Given the description of an element on the screen output the (x, y) to click on. 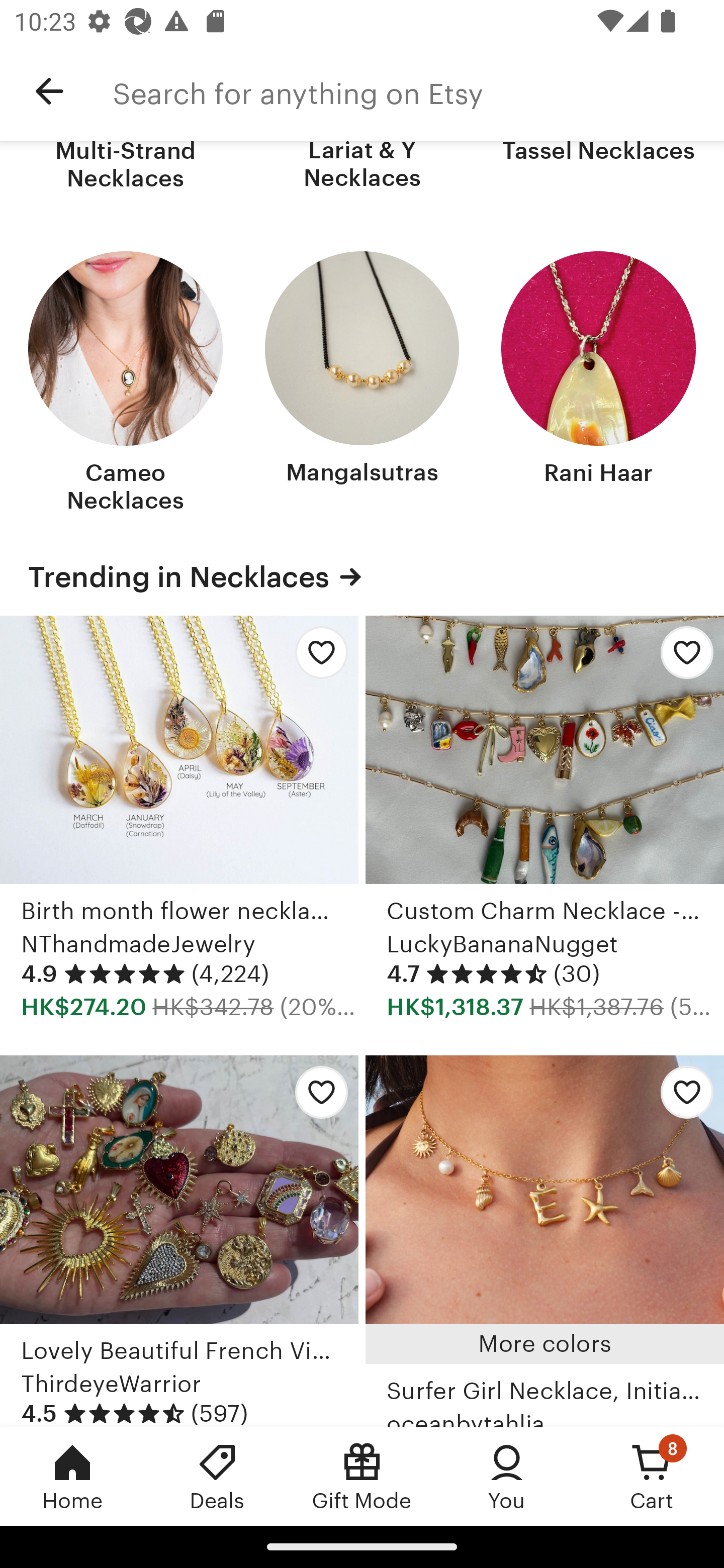
Navigate up (49, 91)
Search for anything on Etsy (418, 91)
Multi-Strand Necklaces (125, 167)
Lariat & Y Necklaces (361, 167)
Tassel Necklaces (598, 167)
Cameo Necklaces (125, 383)
Mangalsutras (361, 383)
Rani Haar (598, 383)
Trending in Necklaces  (361, 576)
Deals (216, 1475)
Gift Mode (361, 1475)
You (506, 1475)
Cart, 8 new notifications Cart (651, 1475)
